Given the description of an element on the screen output the (x, y) to click on. 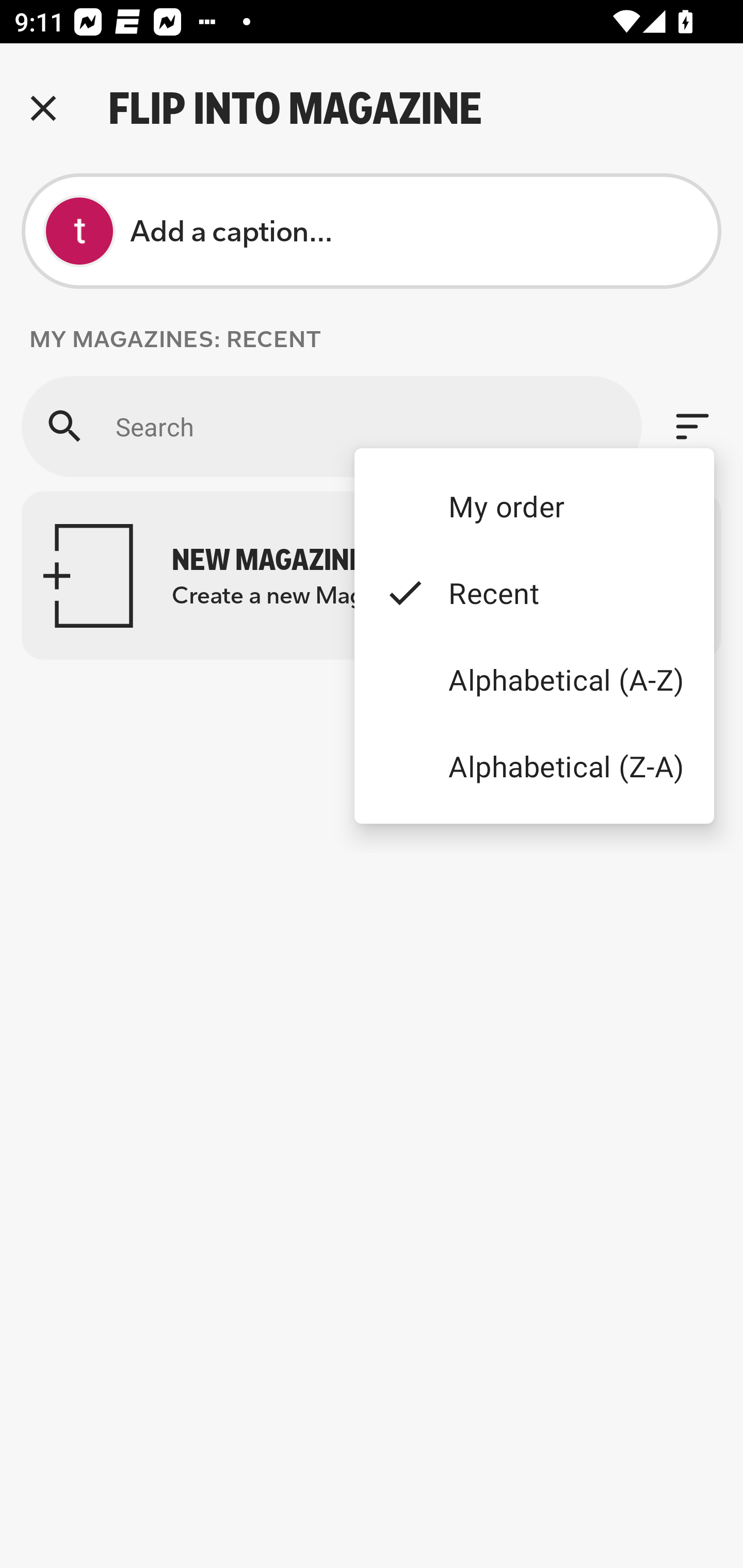
My order (534, 505)
Recent (534, 592)
Alphabetical (A-Z) (534, 679)
Alphabetical (Z-A) (534, 765)
